Given the description of an element on the screen output the (x, y) to click on. 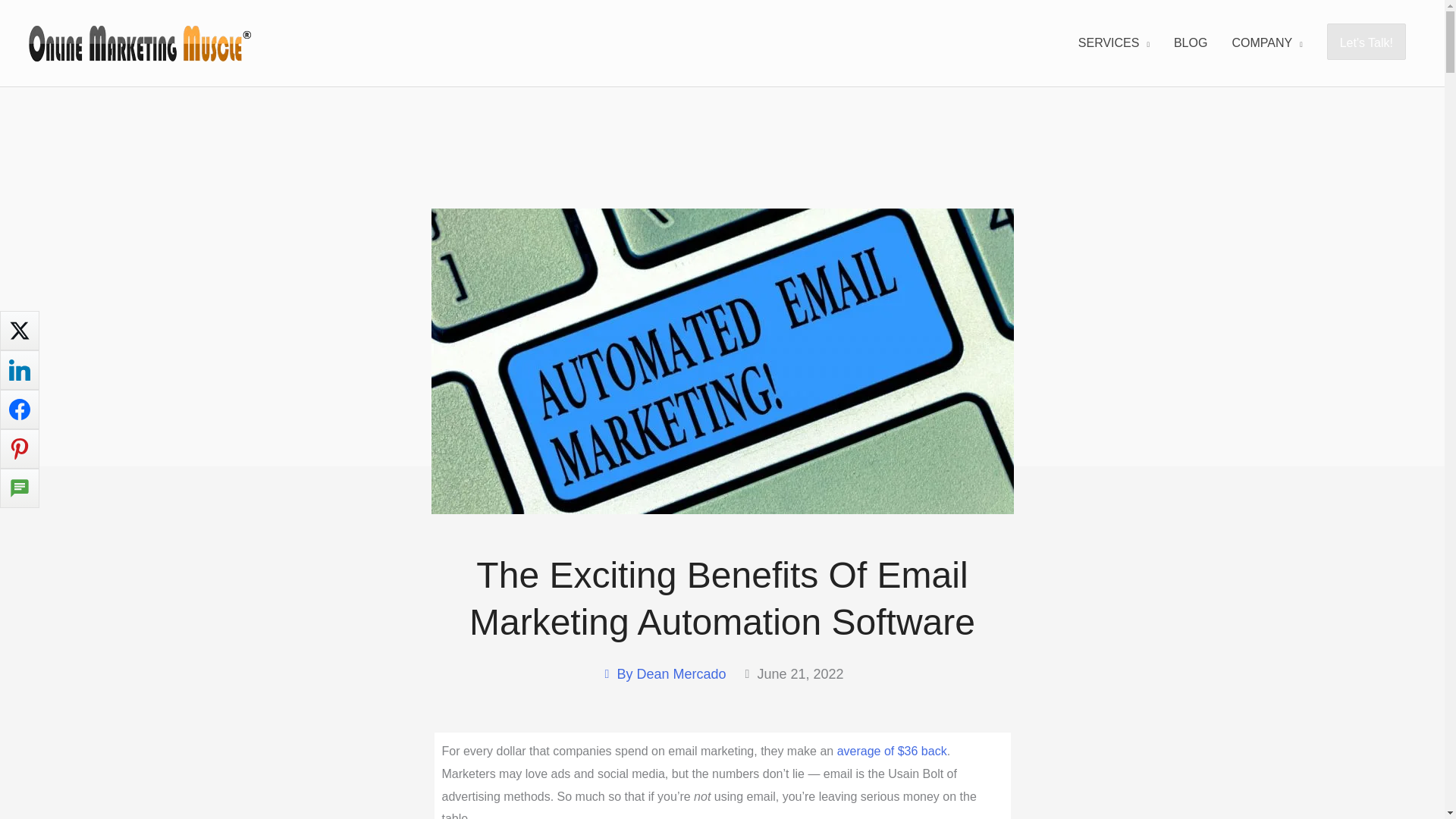
COMPANY (1267, 42)
SERVICES (1113, 42)
BLOG (1190, 42)
Share on Twitter (19, 330)
Online Marketing Muscle Blog (1190, 42)
Share on LinkedIn (19, 369)
By Dean Mercado (662, 674)
Share on Text via SMS (19, 487)
Let's Talk! (1366, 42)
Who Is Online Marketing Muscle? (1267, 42)
